Given the description of an element on the screen output the (x, y) to click on. 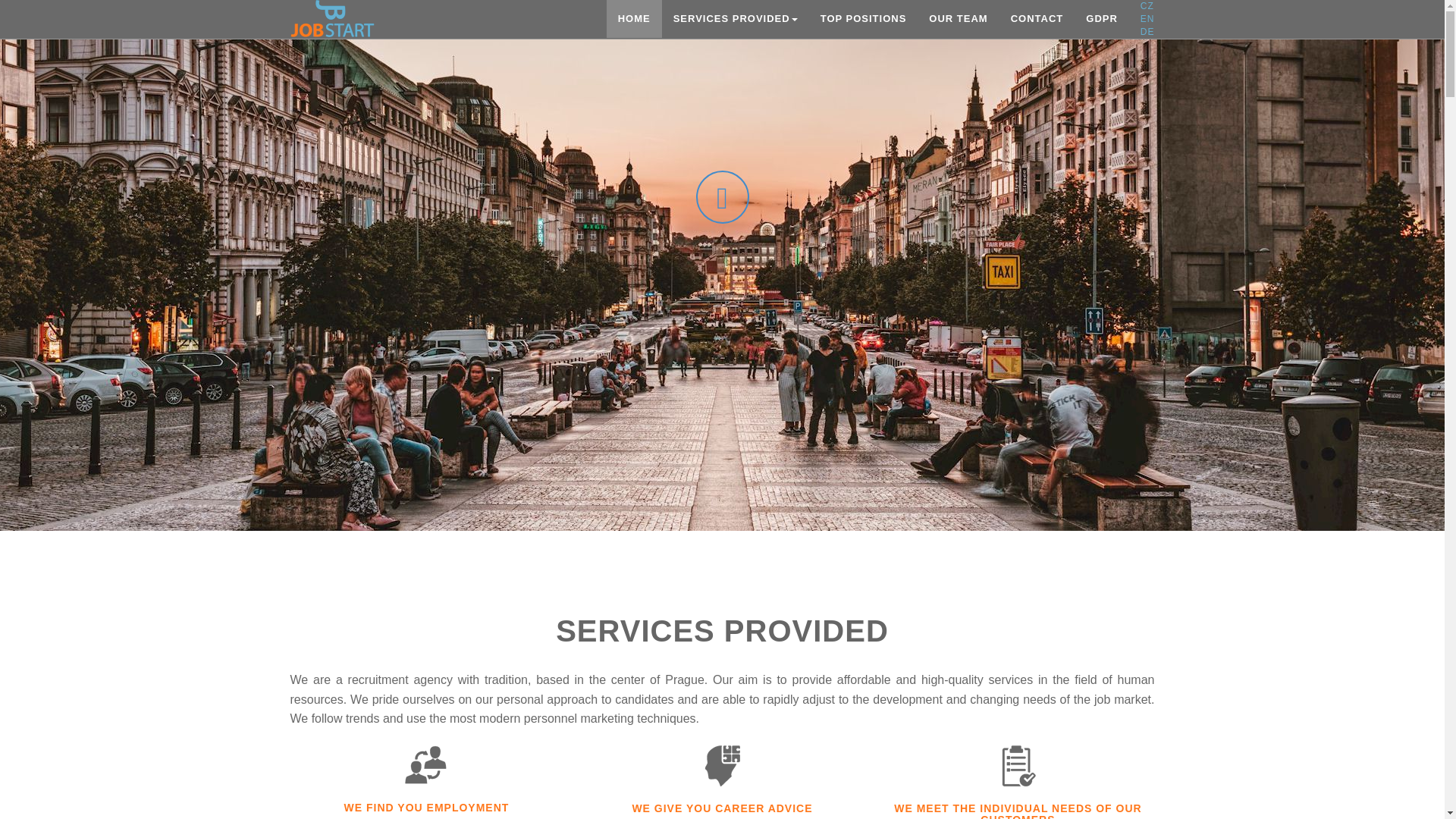
CONTACT (1036, 18)
CZ (1147, 5)
SERVICES PROVIDED (735, 18)
HOME (634, 18)
DE (1147, 31)
TOP POSITIONS (863, 18)
EN (1147, 18)
GDPR (1101, 18)
OUR TEAM (957, 18)
